Given the description of an element on the screen output the (x, y) to click on. 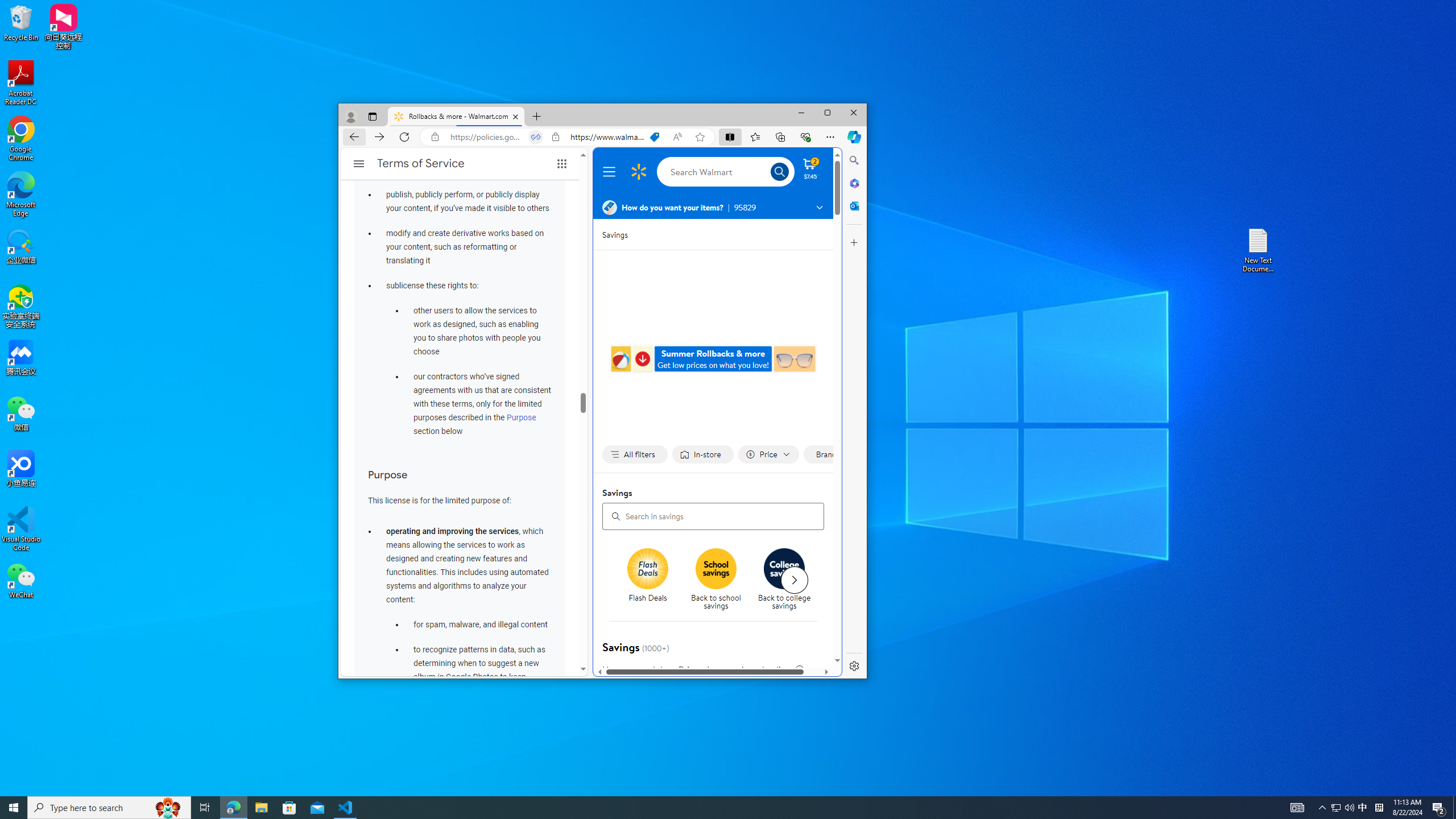
Next slide for chipModuleWithImages list (794, 580)
Tabs in split screen (535, 136)
Search icon (779, 171)
Filter by Brand not applied, activate to change (830, 454)
Start (13, 807)
Running applications (707, 807)
Action Center, 2 new notifications (1439, 807)
This site has coupons! Shopping in Microsoft Edge, 7 (654, 136)
Flash Deals (651, 579)
Microsoft Edge - 1 running window (233, 807)
